Given the description of an element on the screen output the (x, y) to click on. 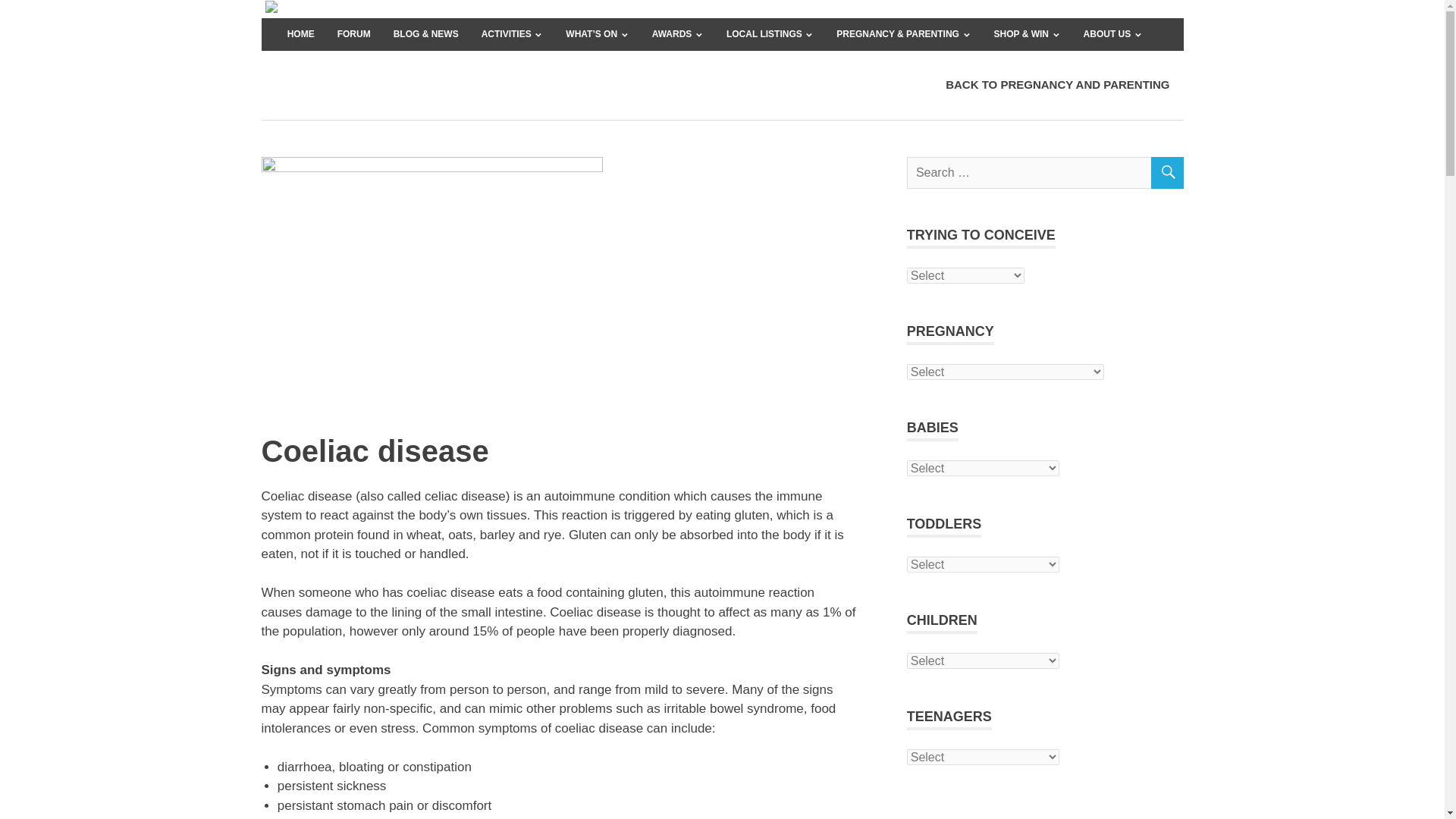
ABOUT US (1112, 33)
ACTIVITIES (512, 33)
AWARDS (677, 33)
FORUM (353, 33)
Search for: (1045, 172)
HOME (301, 33)
BACK TO PREGNANCY AND PARENTING (1056, 85)
LOCAL LISTINGS (769, 33)
